Given the description of an element on the screen output the (x, y) to click on. 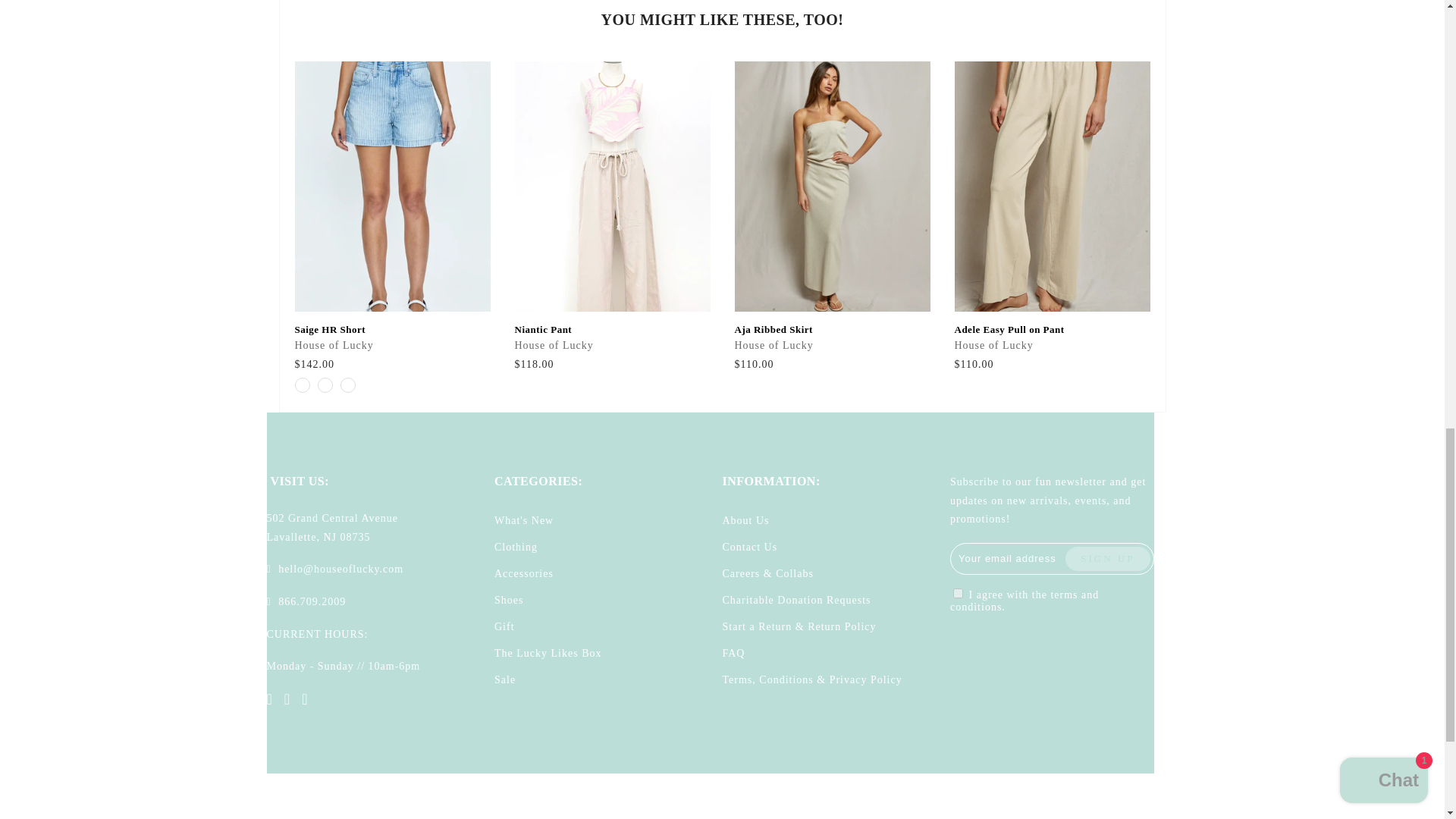
Sign up (1107, 558)
on (957, 593)
